Given the description of an element on the screen output the (x, y) to click on. 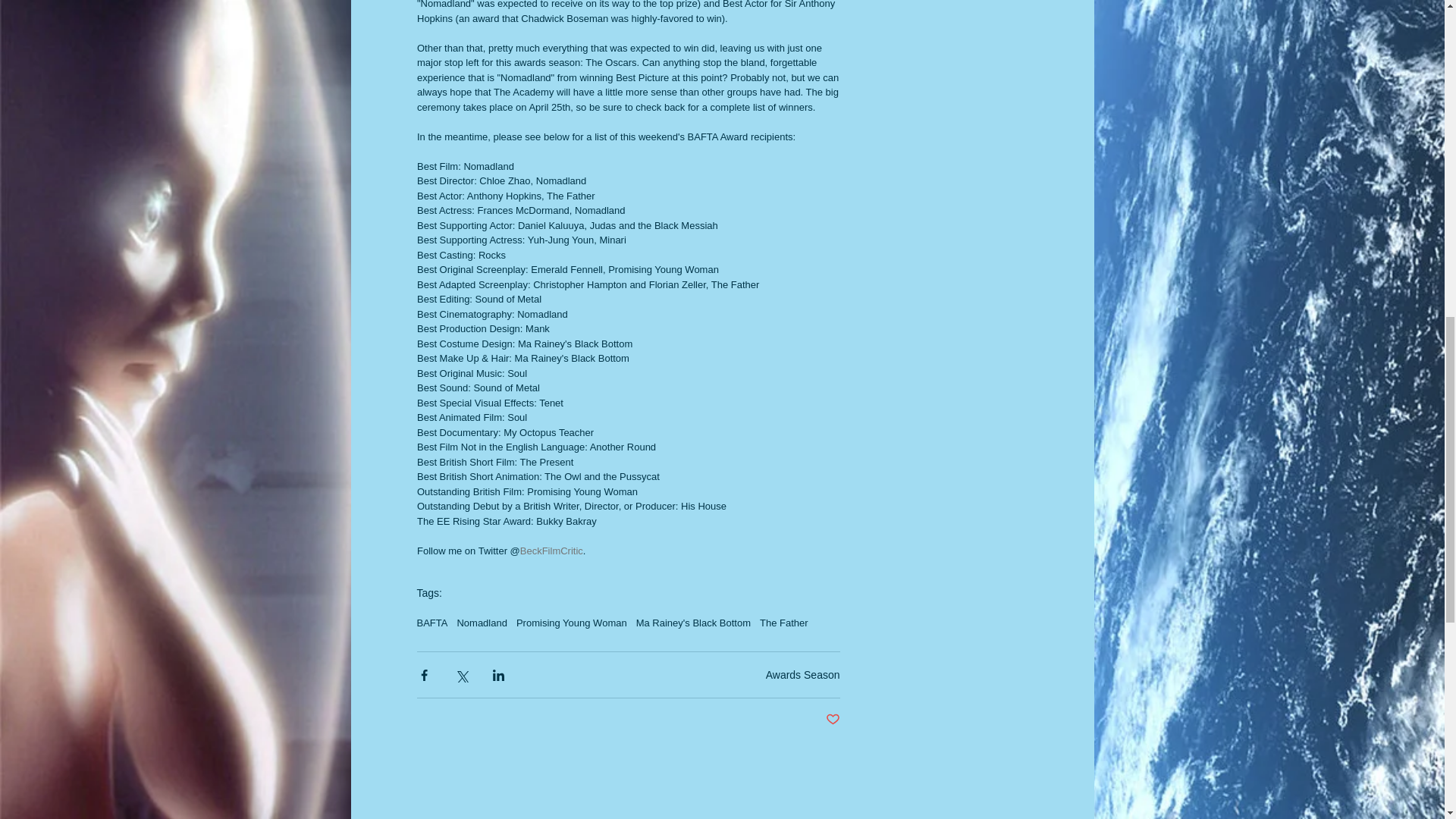
BAFTA (432, 622)
The Father (784, 622)
Awards Season (802, 674)
Ma Rainey's Black Bottom (693, 622)
Promising Young Woman (571, 622)
Nomadland (481, 622)
Post not marked as liked (832, 719)
BeckFilmCritic (550, 550)
